Given the description of an element on the screen output the (x, y) to click on. 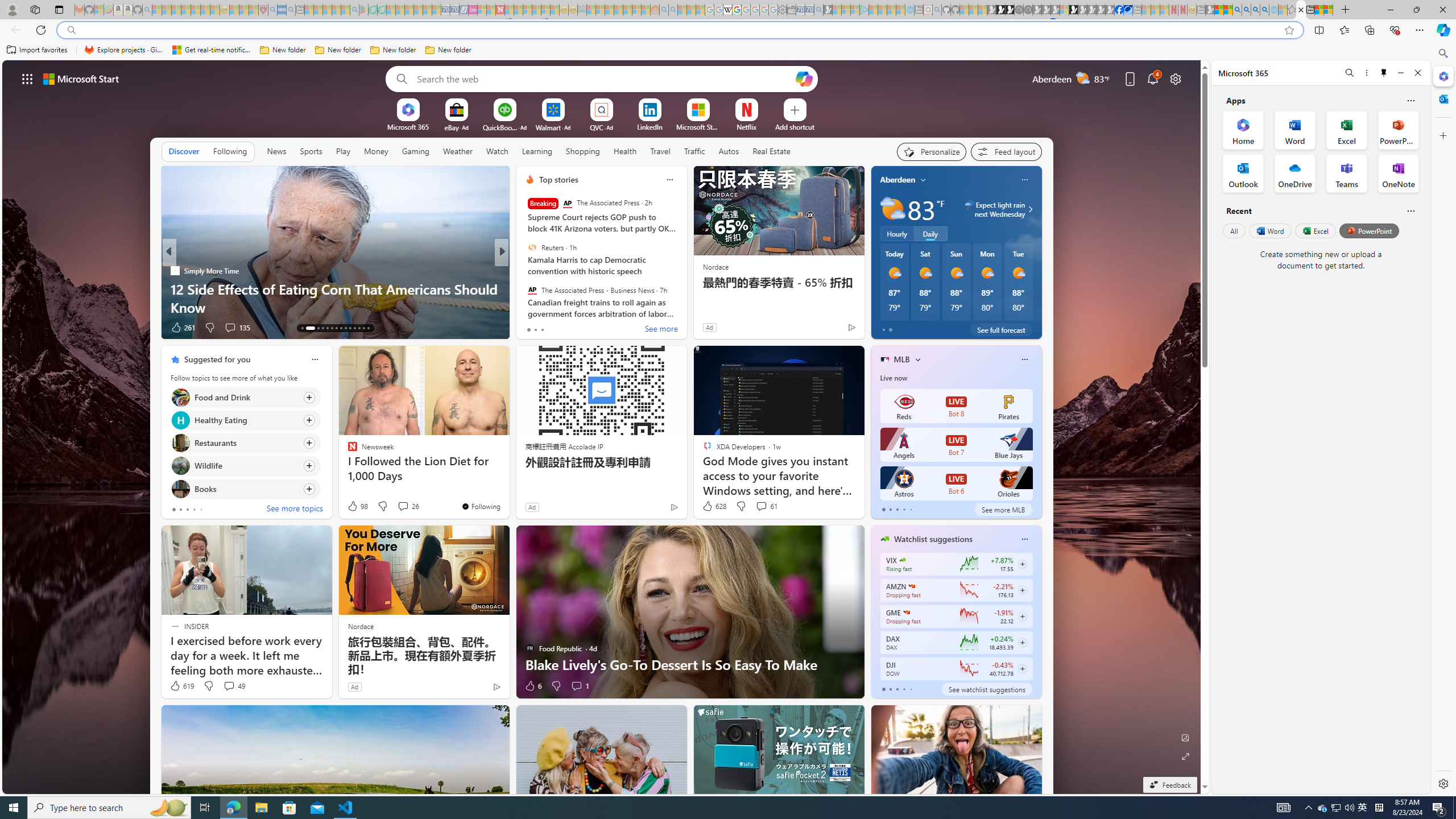
AutomationID: tab-14 (306, 328)
App launcher (27, 78)
Search icon (70, 29)
View comments 26 Comment (408, 505)
